Given the description of an element on the screen output the (x, y) to click on. 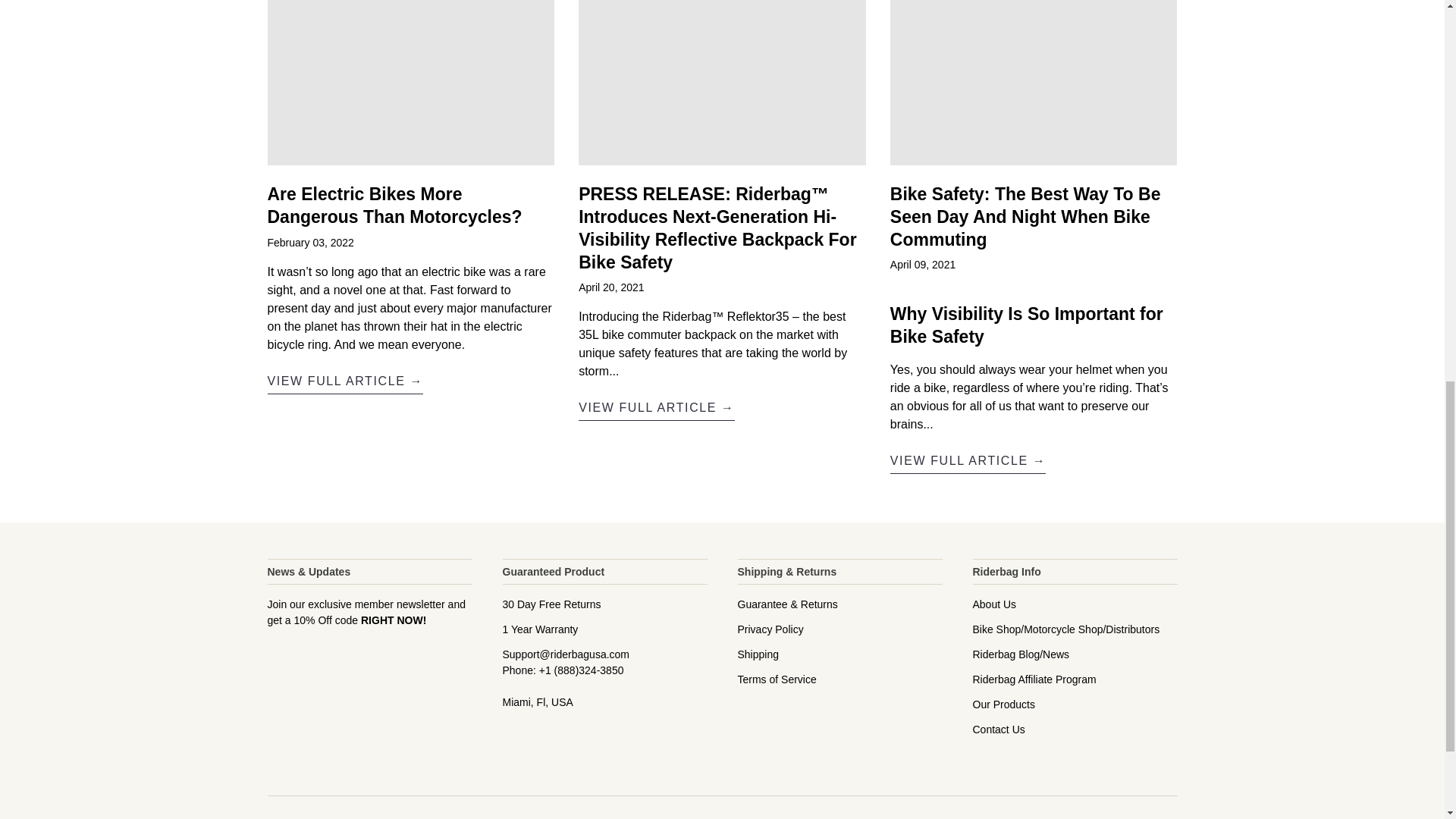
Are Electric Bikes More Dangerous Than Motorcycles? (344, 382)
Are Electric Bikes More Dangerous Than Motorcycles? (393, 205)
